Given the description of an element on the screen output the (x, y) to click on. 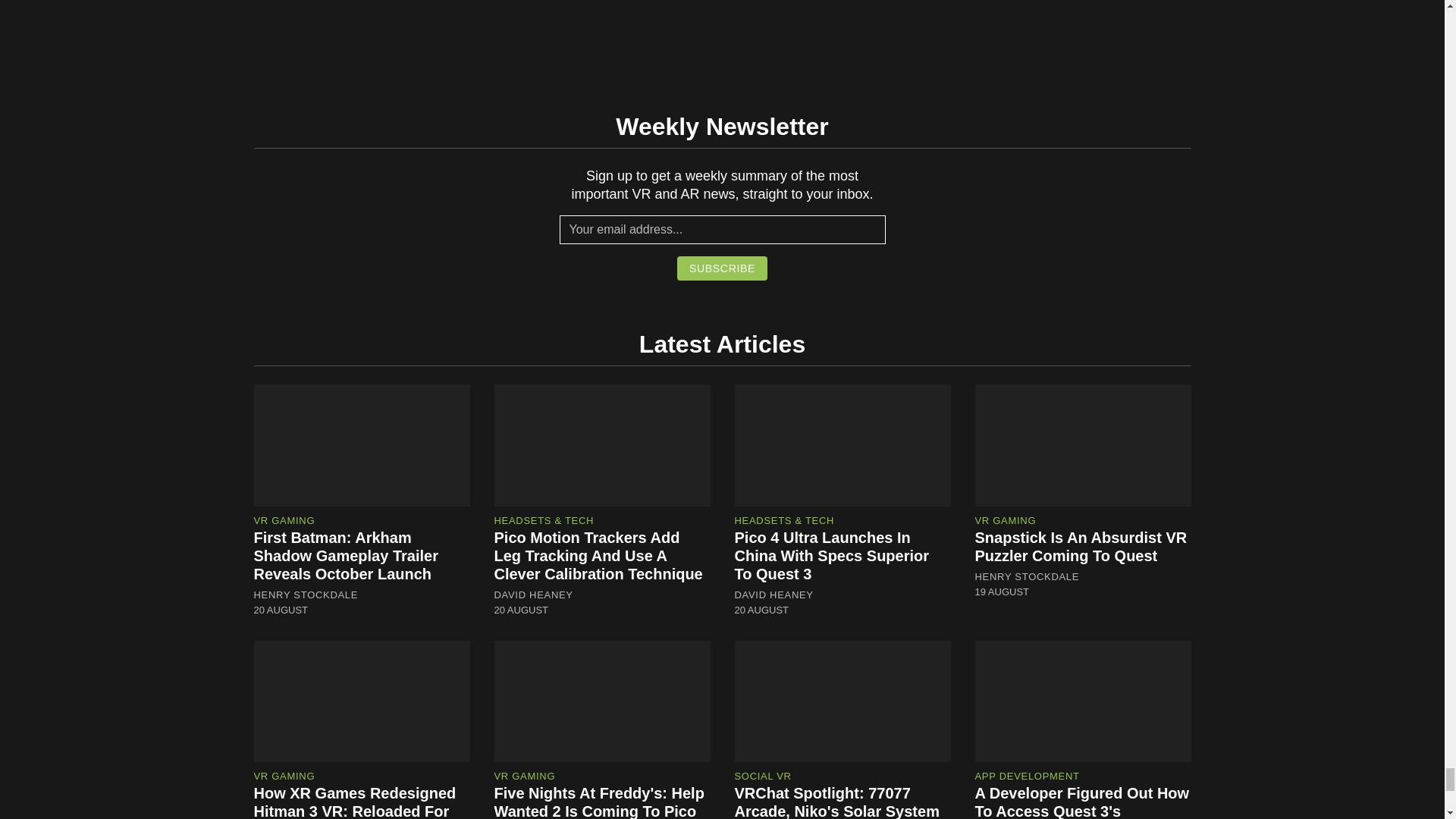
Latest Articles (722, 343)
DAVID HEANEY (534, 594)
HENRY STOCKDALE (305, 594)
VR GAMING (283, 520)
Subscribe (722, 268)
Subscribe (722, 268)
